Given the description of an element on the screen output the (x, y) to click on. 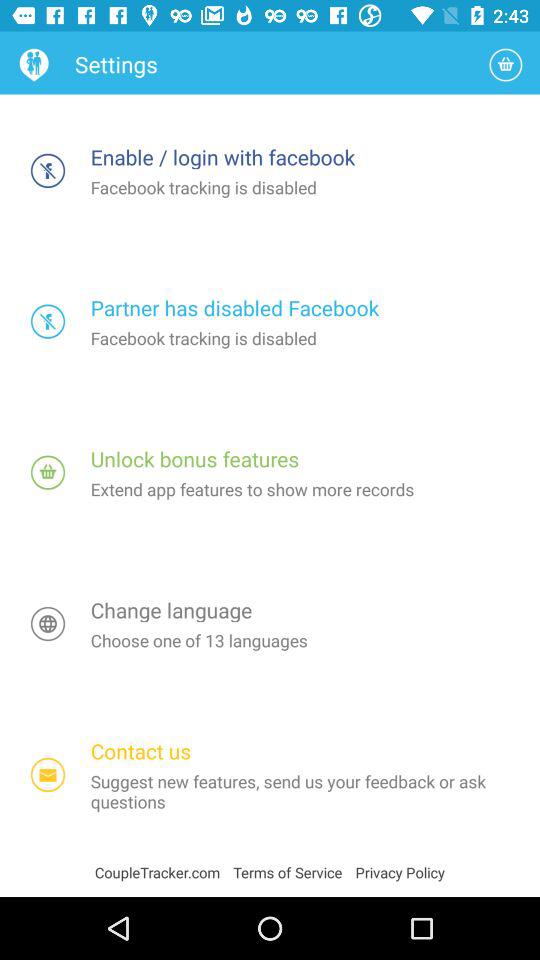
change language (47, 623)
